Given the description of an element on the screen output the (x, y) to click on. 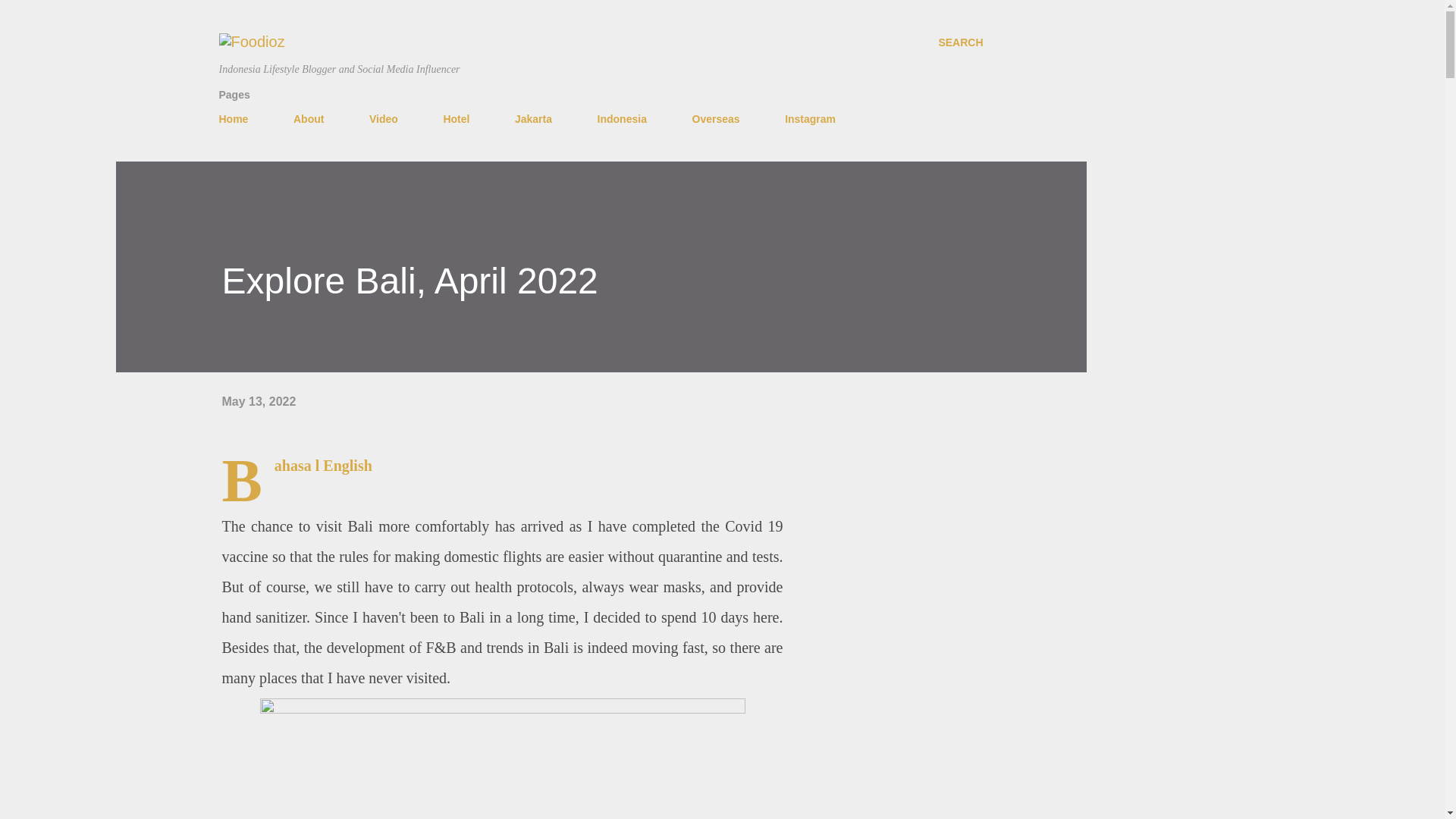
Hotel (456, 119)
SEARCH (959, 42)
Overseas (715, 119)
Indonesia (622, 119)
Home (237, 119)
Video (383, 119)
permanent link (258, 400)
Instagram (810, 119)
May 13, 2022 (258, 400)
About (308, 119)
Jakarta (532, 119)
Bahasa (293, 465)
